Given the description of an element on the screen output the (x, y) to click on. 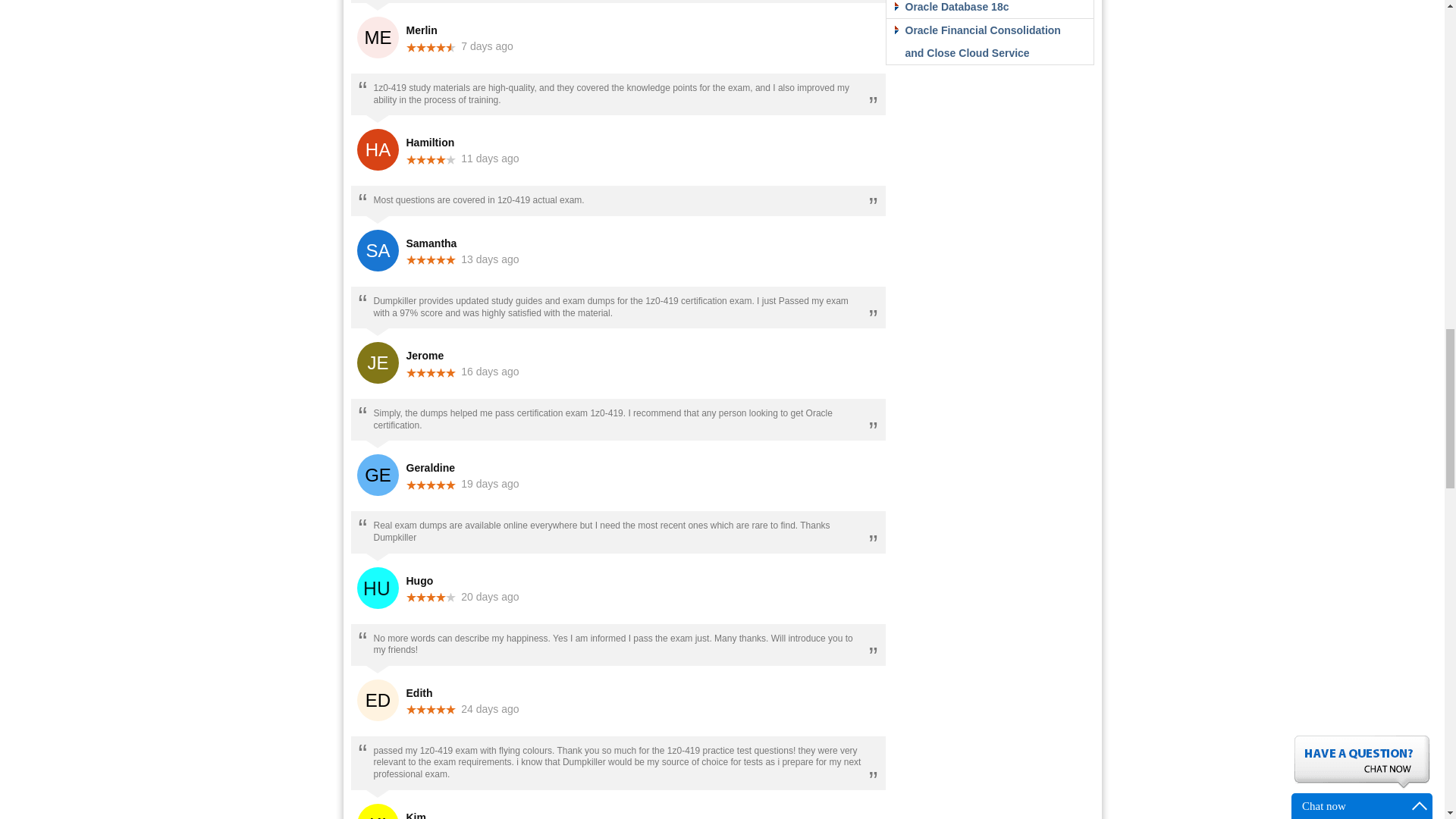
Jun 30, 2024 (489, 483)
Jul 08, 2024 (489, 158)
Jul 03, 2024 (489, 371)
Jul 06, 2024 (489, 259)
Jun 25, 2024 (489, 708)
Jun 29, 2024 (489, 596)
Jul 12, 2024 (487, 46)
